Given the description of an element on the screen output the (x, y) to click on. 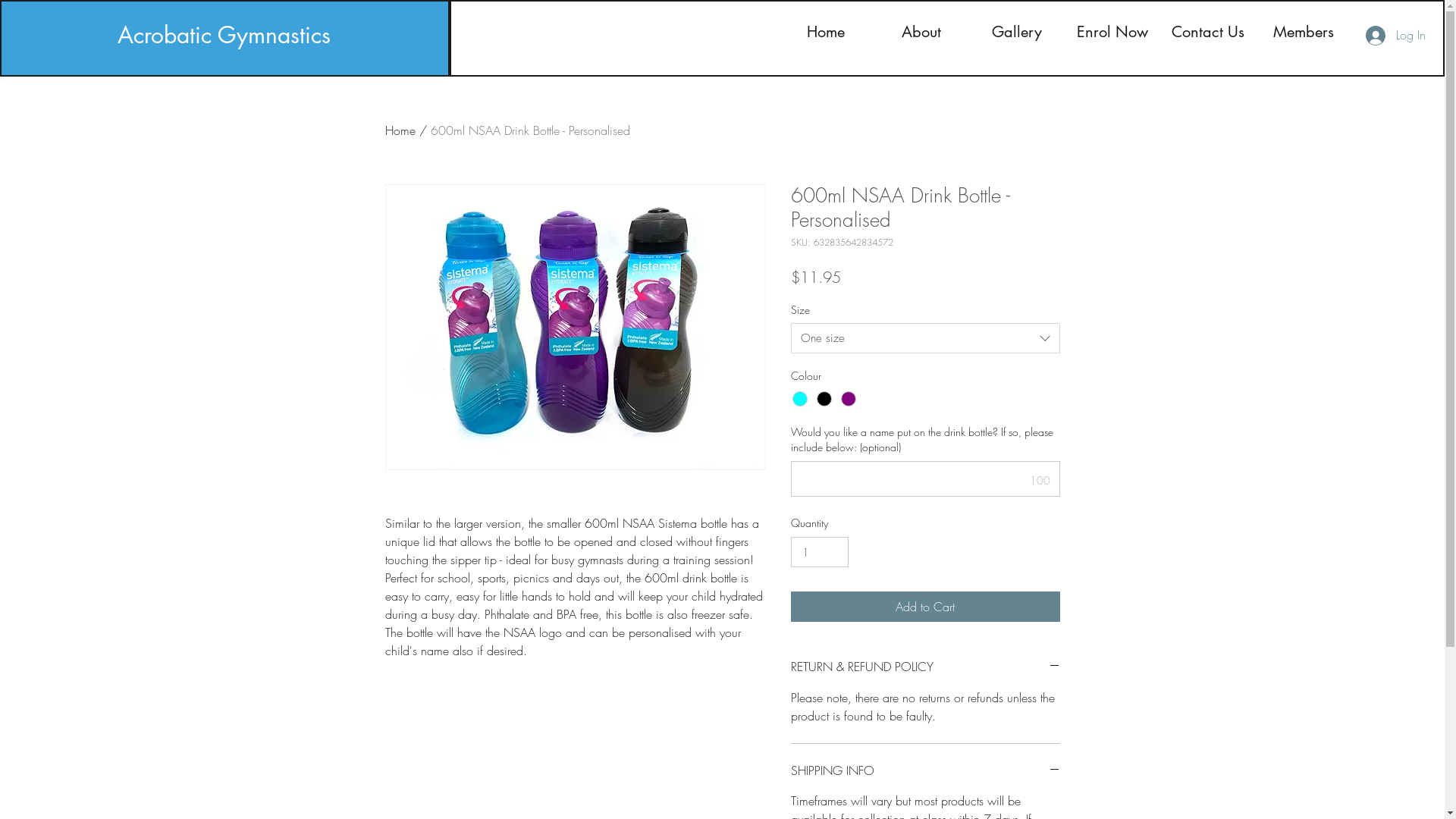
Log In Element type: text (1395, 35)
RETURN & REFUND POLICY Element type: text (924, 666)
Enrol Now Element type: text (1112, 31)
Home Element type: text (400, 130)
SHIPPING INFO Element type: text (924, 770)
One size Element type: text (924, 338)
Add to Cart Element type: text (924, 606)
Contact Us Element type: text (1207, 31)
Gallery Element type: text (1016, 31)
Acrobatic Gymnastics Element type: text (223, 34)
Home Element type: text (825, 31)
About Element type: text (921, 31)
Members Element type: text (1303, 31)
